Given the description of an element on the screen output the (x, y) to click on. 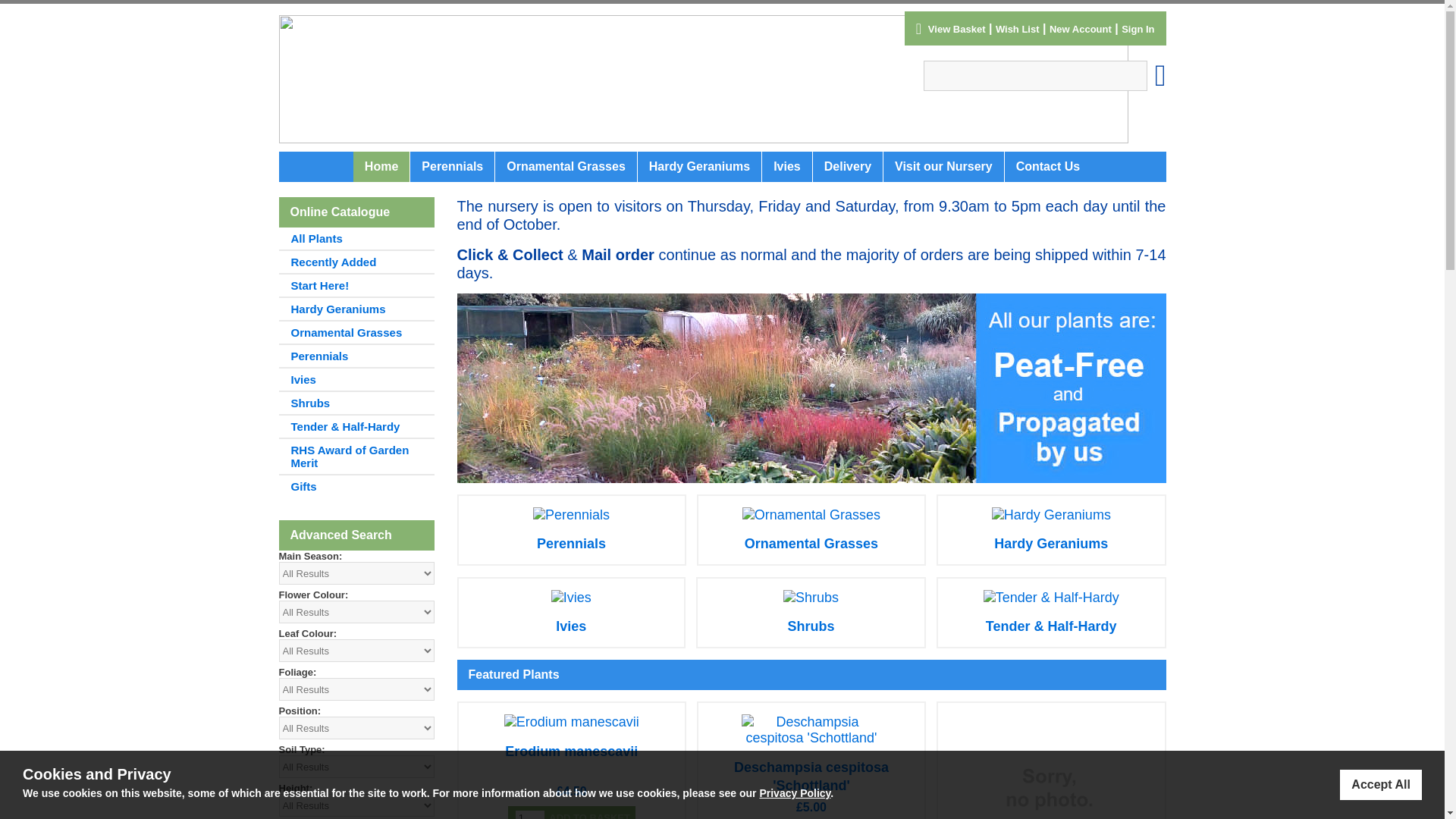
All Plants (356, 238)
Perennials (571, 543)
Erodium manescavii (571, 751)
Ivies (571, 626)
Recently Added (356, 260)
Ornamental Grasses (810, 543)
Ivies (356, 378)
Start Here! (356, 284)
ADD TO BASKET (589, 812)
